Given the description of an element on the screen output the (x, y) to click on. 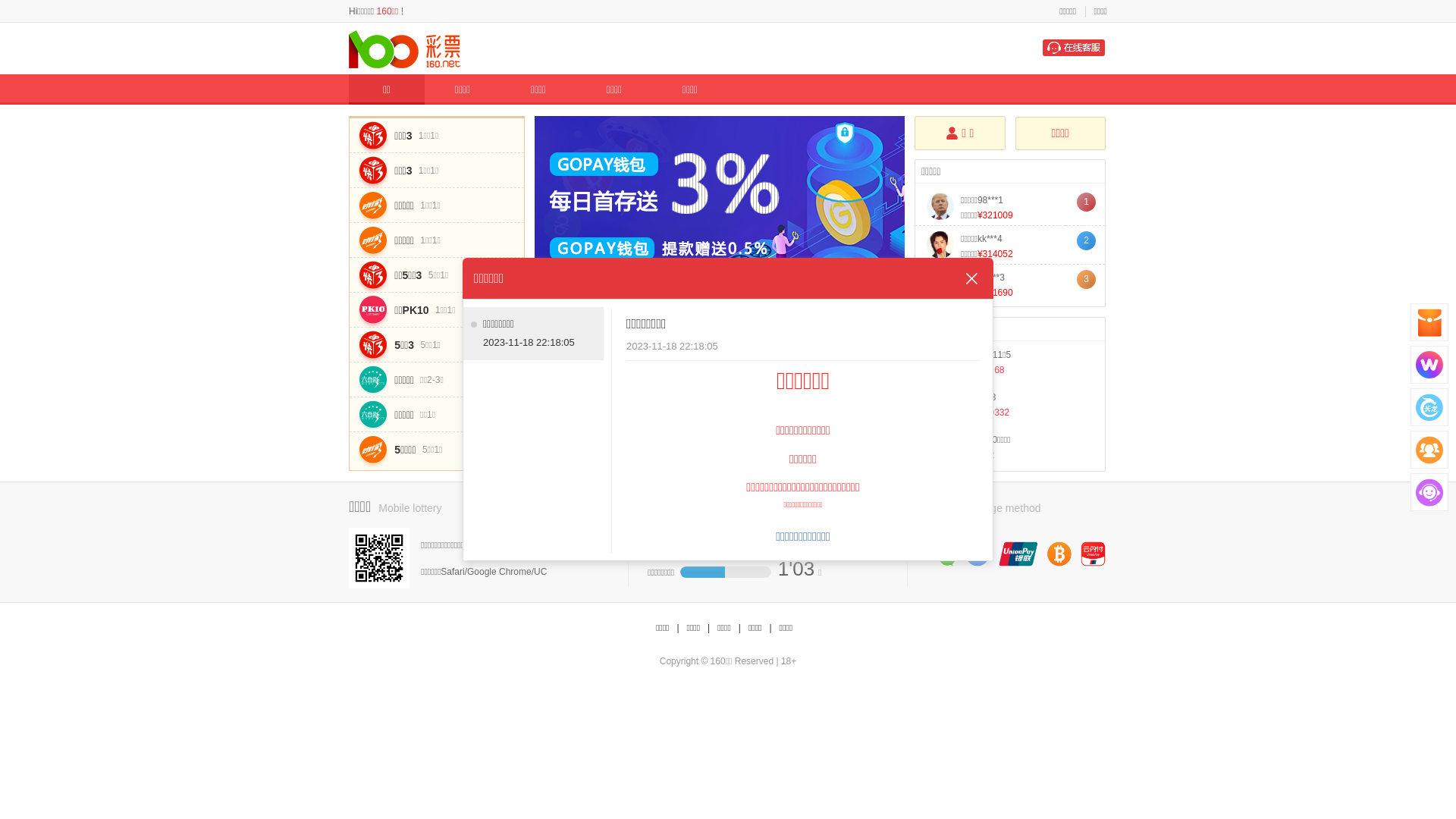
| Element type: text (708, 627)
| Element type: text (677, 627)
| Element type: text (739, 627)
| Element type: text (769, 627)
